Given the description of an element on the screen output the (x, y) to click on. 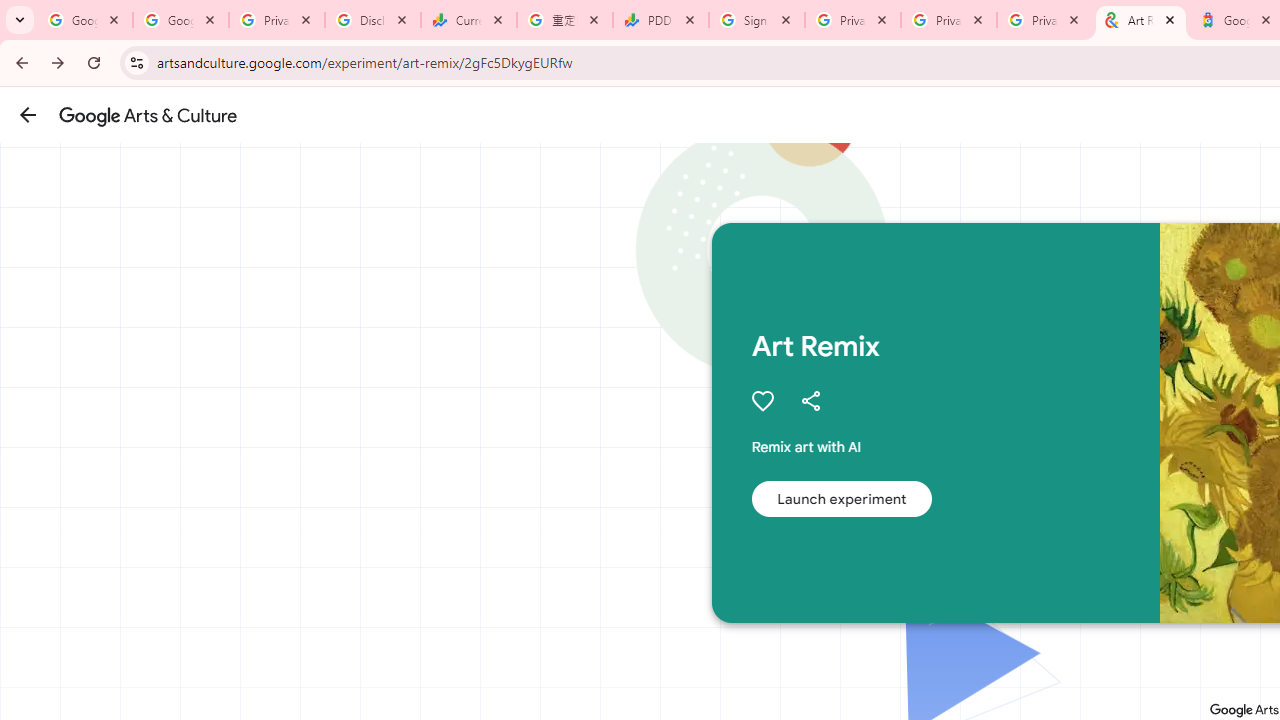
Currencies - Google Finance (469, 20)
Google Workspace Admin Community (85, 20)
Share "Art Remix" (809, 400)
Google Arts & Culture (148, 115)
PDD Holdings Inc - ADR (PDD) Price & News - Google Finance (661, 20)
Authenticate to favorite this asset. (762, 400)
